Given the description of an element on the screen output the (x, y) to click on. 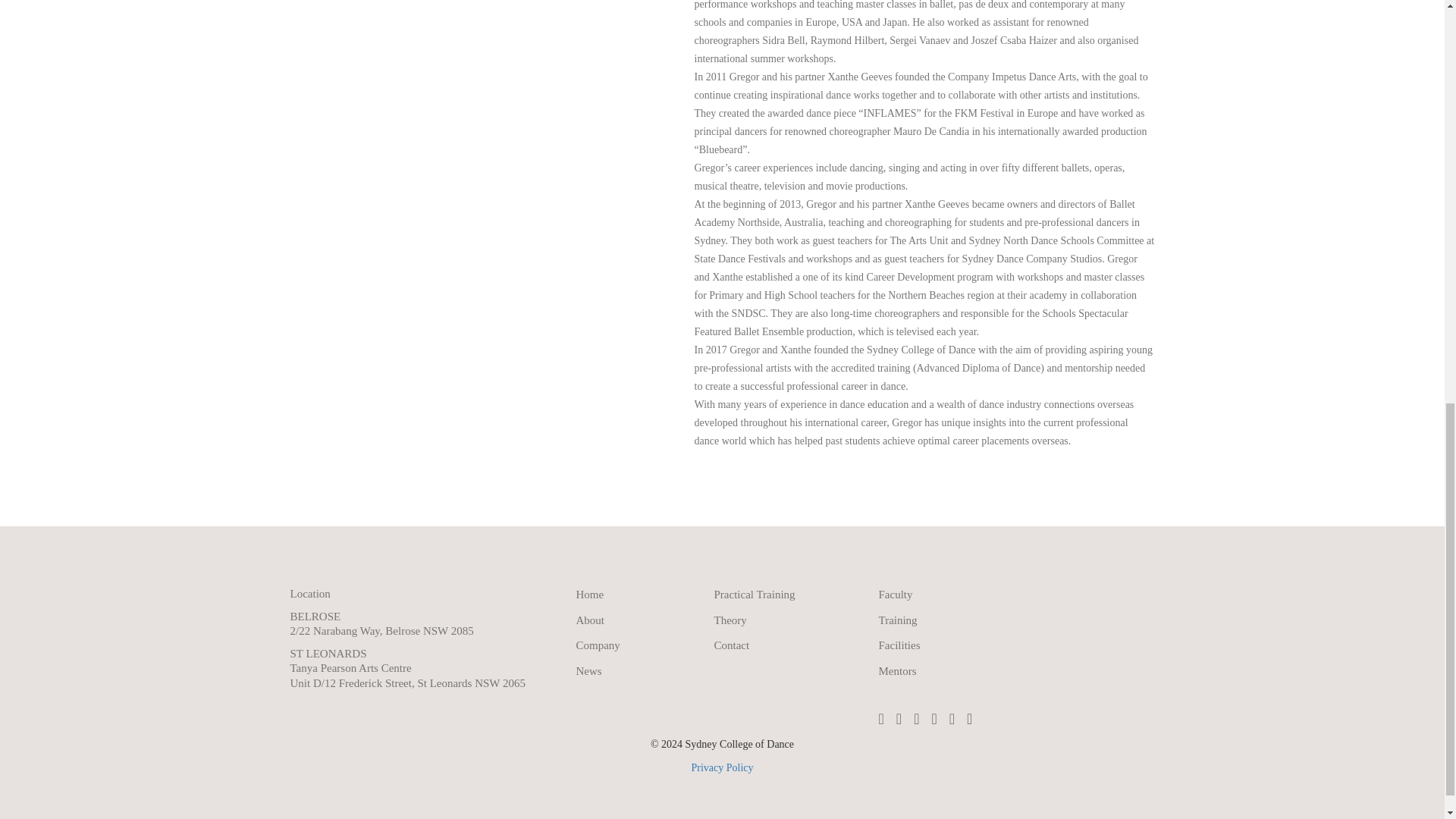
Home (590, 594)
Facilities (898, 645)
News (589, 671)
About (590, 620)
Contact (731, 645)
Theory (730, 620)
Practical Training (754, 594)
Company (598, 645)
Training (897, 620)
Faculty (894, 594)
Mentors (896, 671)
Privacy Policy (721, 767)
